Given the description of an element on the screen output the (x, y) to click on. 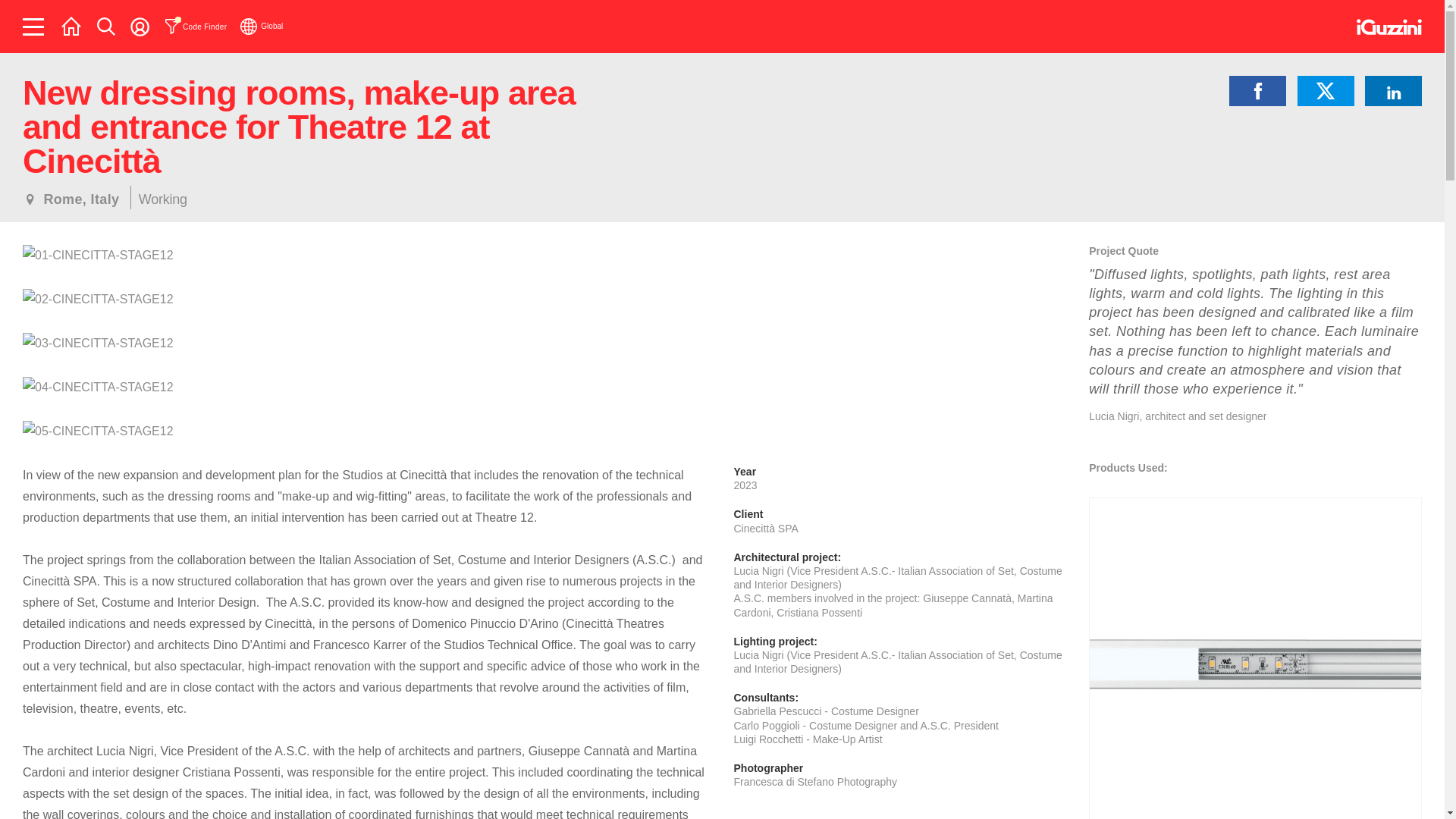
Account (140, 25)
Share on Facebook (1256, 91)
Code Finder (196, 26)
iGuzzini (1389, 26)
Home (70, 26)
Code Finder (196, 26)
iGuzzini (1389, 29)
Rome, Italy (71, 199)
Search (106, 26)
